Given the description of an element on the screen output the (x, y) to click on. 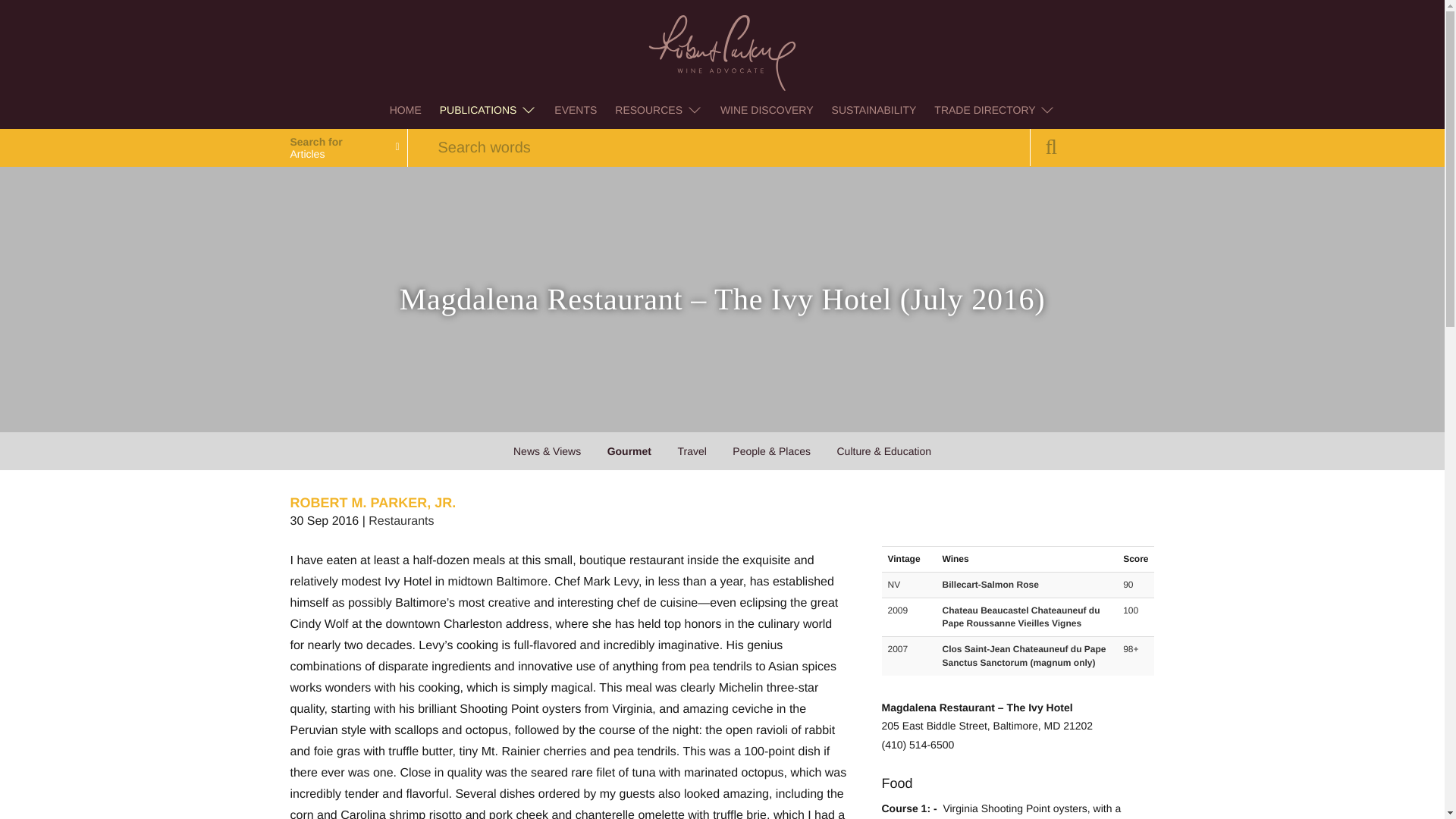
PUBLICATIONS (488, 109)
2009 (896, 610)
2007 (896, 648)
RESOURCES (658, 109)
WINE DISCOVERY (766, 109)
Travel (691, 450)
HOME (405, 109)
SUSTAINABILITY (874, 109)
EVENTS (574, 109)
